Given the description of an element on the screen output the (x, y) to click on. 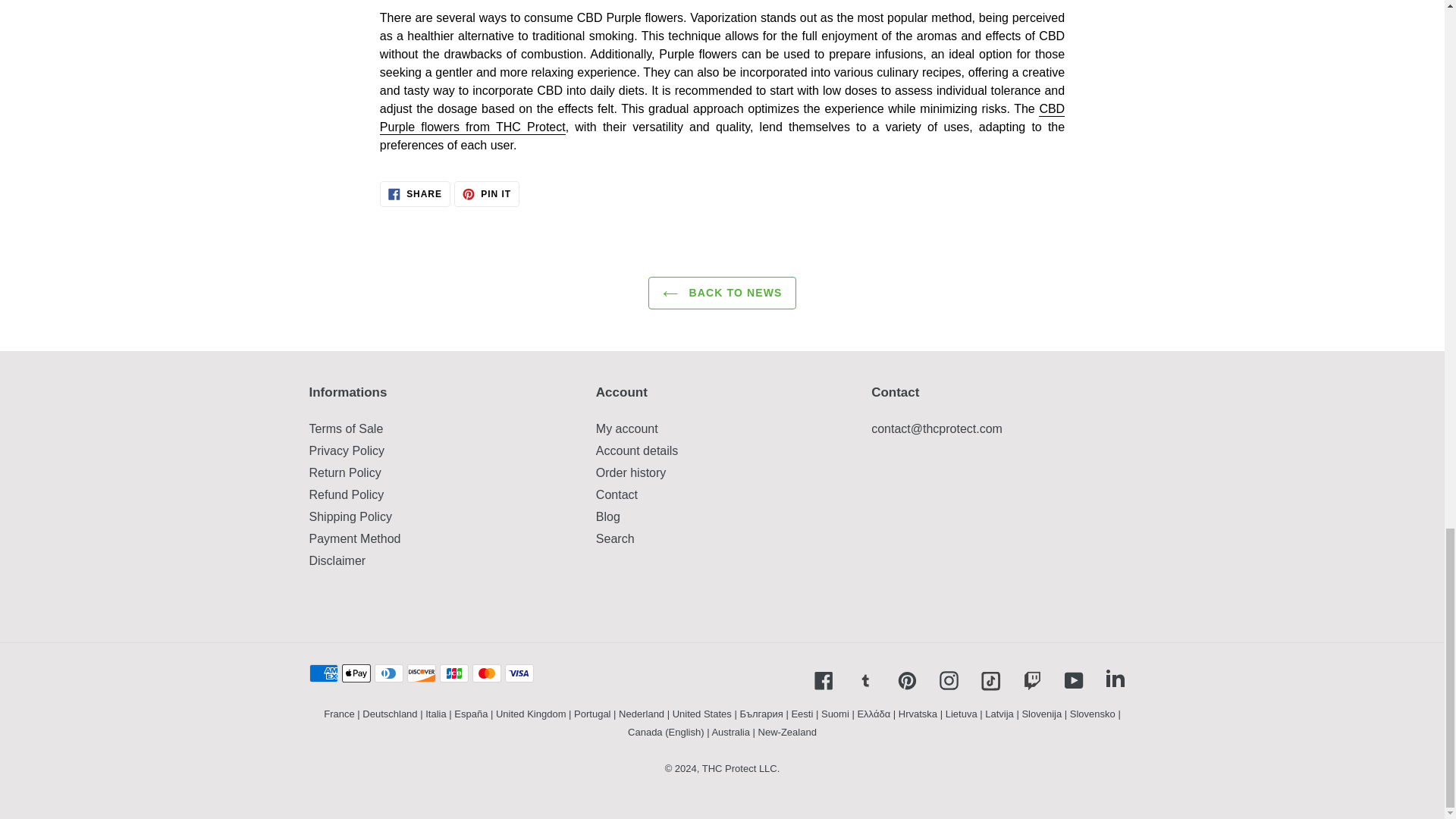
CBD Purple flowers from THC Protect (722, 118)
Terms of Sale (346, 428)
Shipping Policy (349, 516)
CBD Purple flowers from THC Protect (722, 118)
Order history (486, 193)
Contact (630, 472)
My account (616, 494)
Refund Policy (626, 428)
BACK TO NEWS (346, 494)
